Given the description of an element on the screen output the (x, y) to click on. 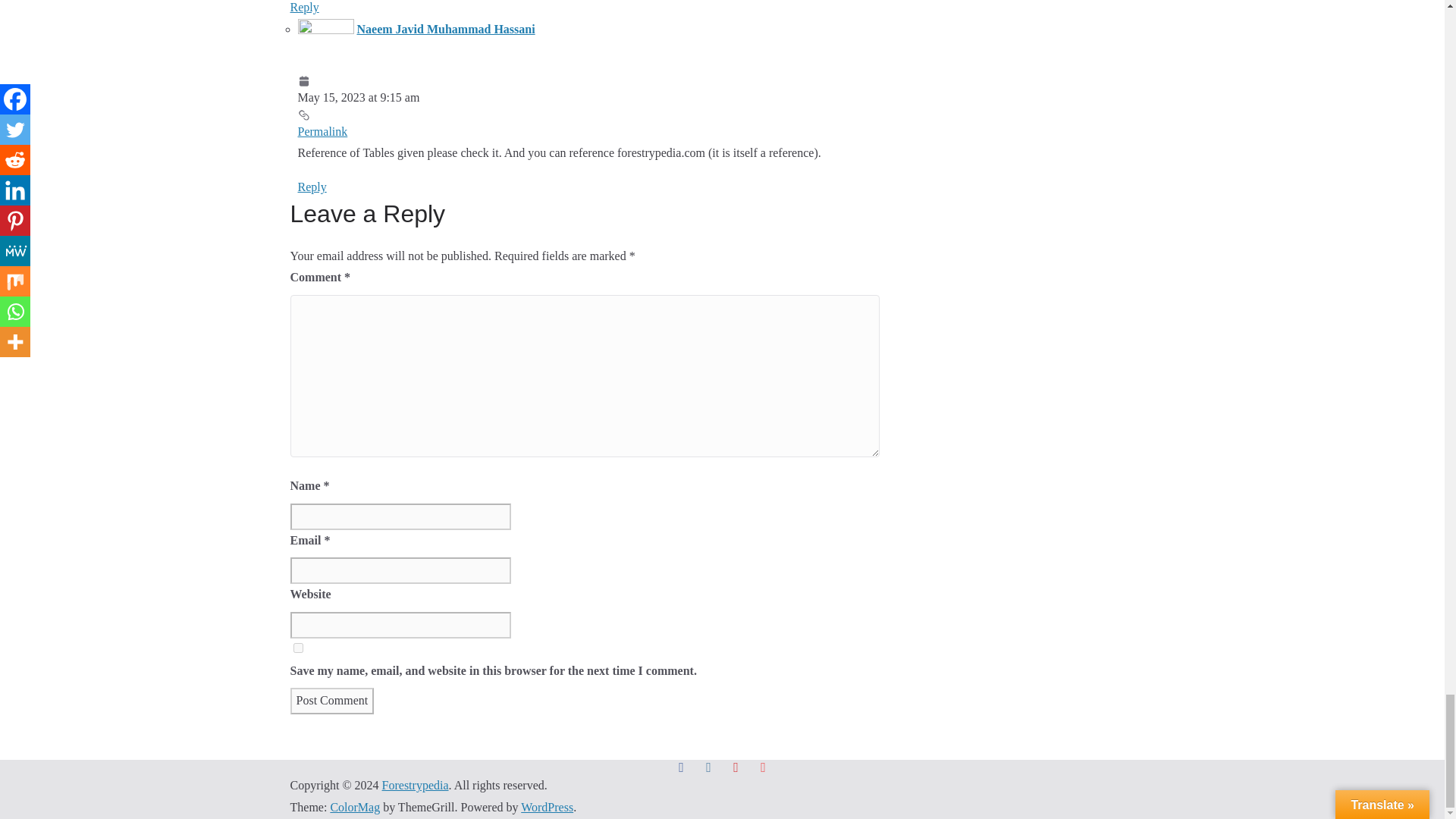
yes (297, 647)
Post Comment (331, 700)
